Given the description of an element on the screen output the (x, y) to click on. 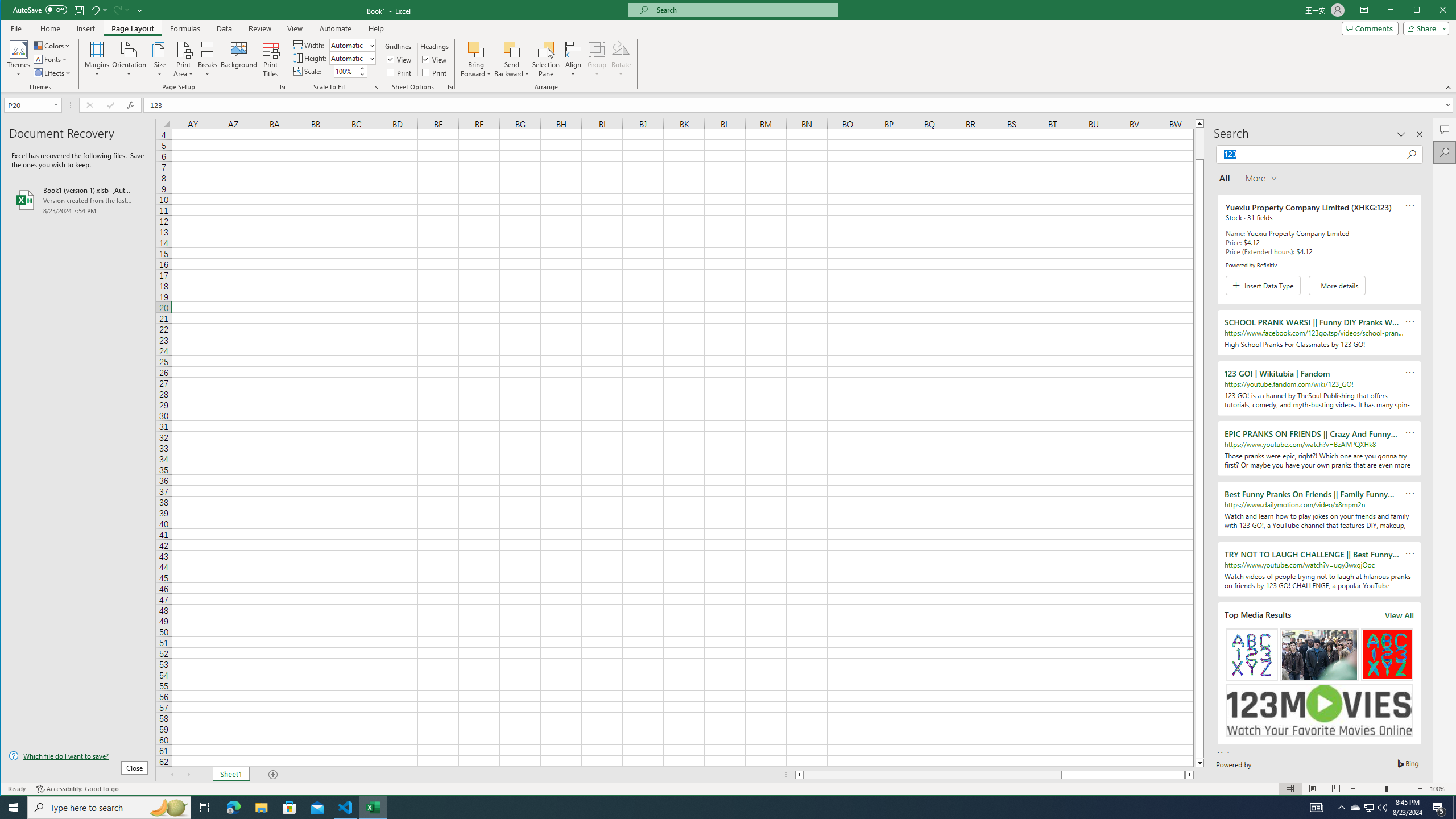
Customize Quick Access Toolbar (140, 9)
Group (596, 59)
Scroll Left (172, 774)
Height (352, 57)
Rotate (620, 59)
